Given the description of an element on the screen output the (x, y) to click on. 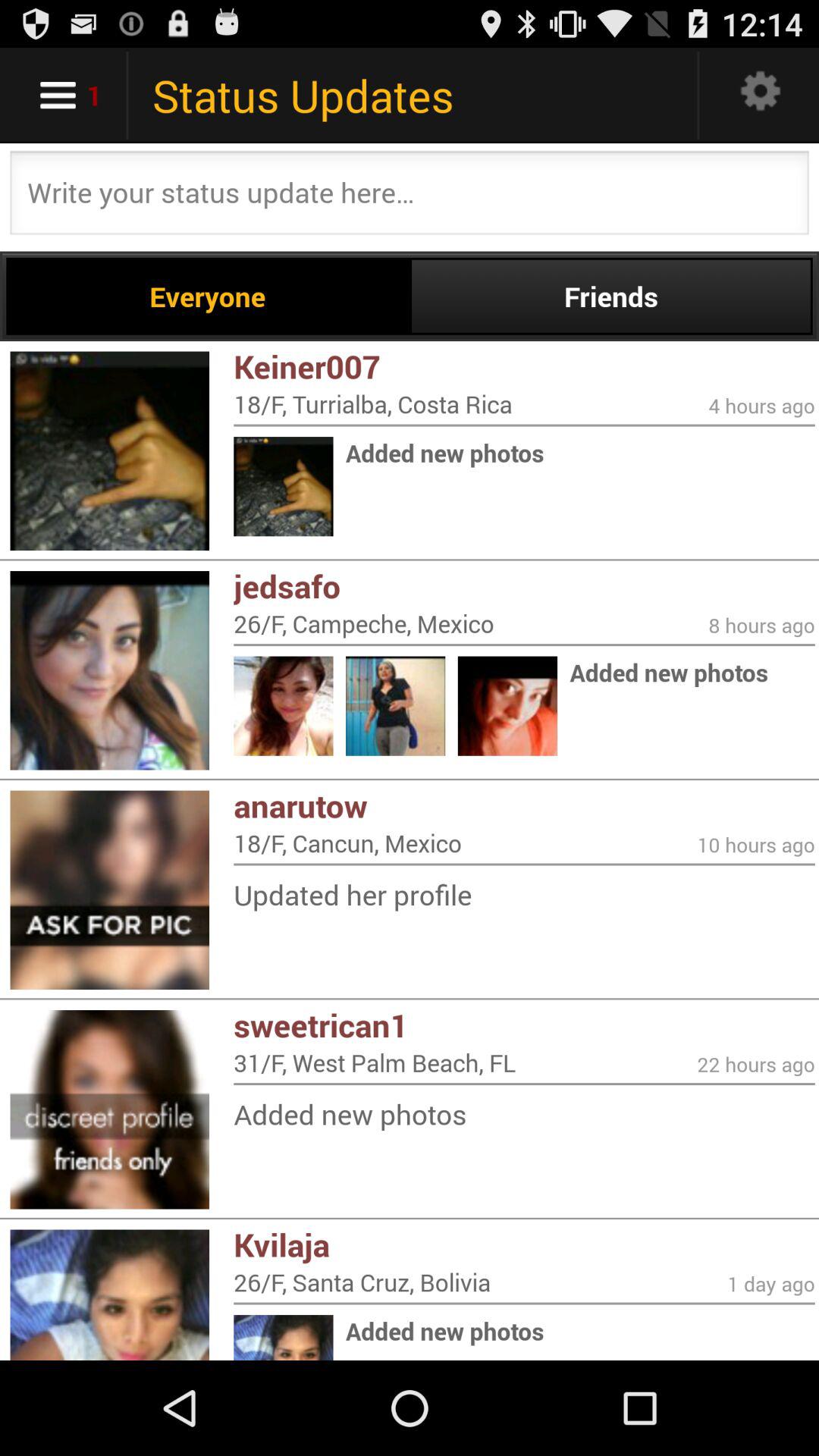
tap radio button to the left of the friends icon (207, 295)
